Given the description of an element on the screen output the (x, y) to click on. 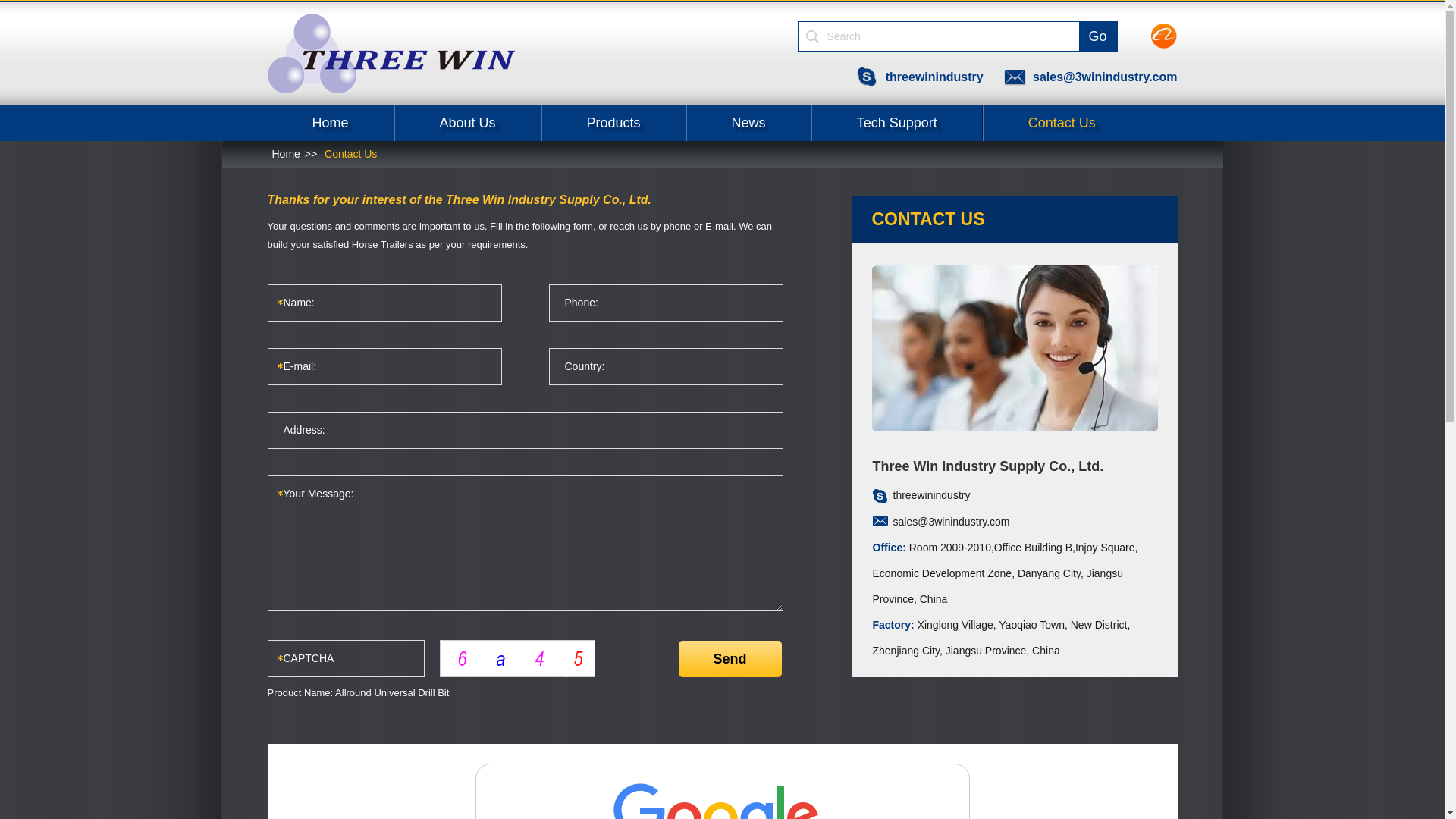
Tech Support Element type: text (896, 122)
threewinindustry Element type: text (919, 77)
Three Win Industry Supply Co., Ltd. Element type: hover (390, 89)
sales@3winindustry.com Element type: text (1090, 77)
Three Win Industry Supply Co., Ltd. Element type: hover (390, 53)
threewinindustry Element type: text (931, 495)
CONTACT US Element type: text (1014, 218)
Go Element type: text (1097, 35)
About Us Element type: text (467, 122)
Three Win Industry Supply Co., Ltd. Element type: hover (1014, 348)
News Element type: text (748, 122)
Send Element type: text (729, 658)
Contact Us Element type: text (1061, 122)
Contact Us Element type: text (348, 153)
Home Element type: text (329, 122)
Home Element type: text (285, 153)
Products Element type: text (613, 122)
sales@3winindustry.com Element type: text (951, 521)
